Given the description of an element on the screen output the (x, y) to click on. 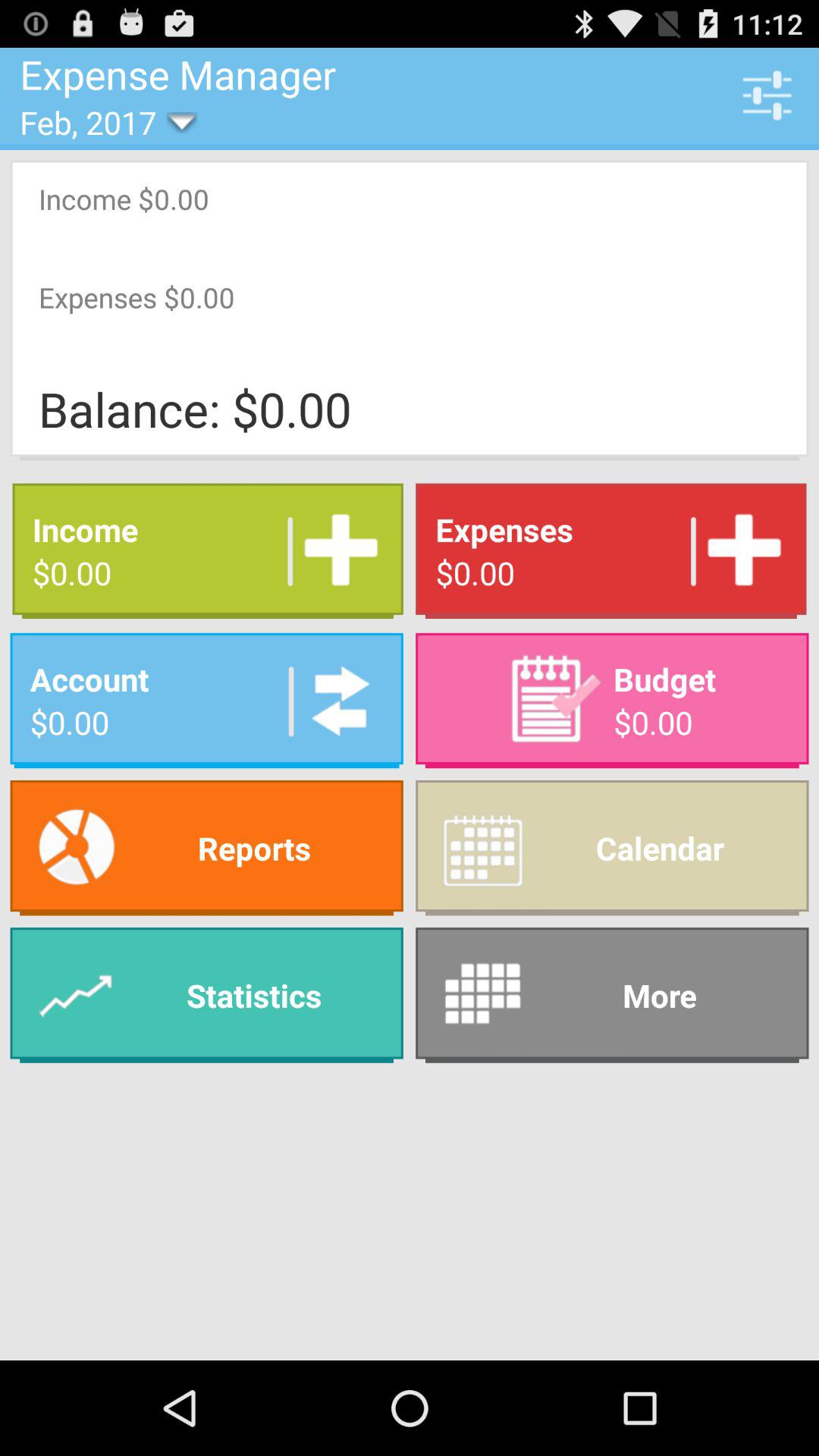
launch the app next to reports item (611, 994)
